Given the description of an element on the screen output the (x, y) to click on. 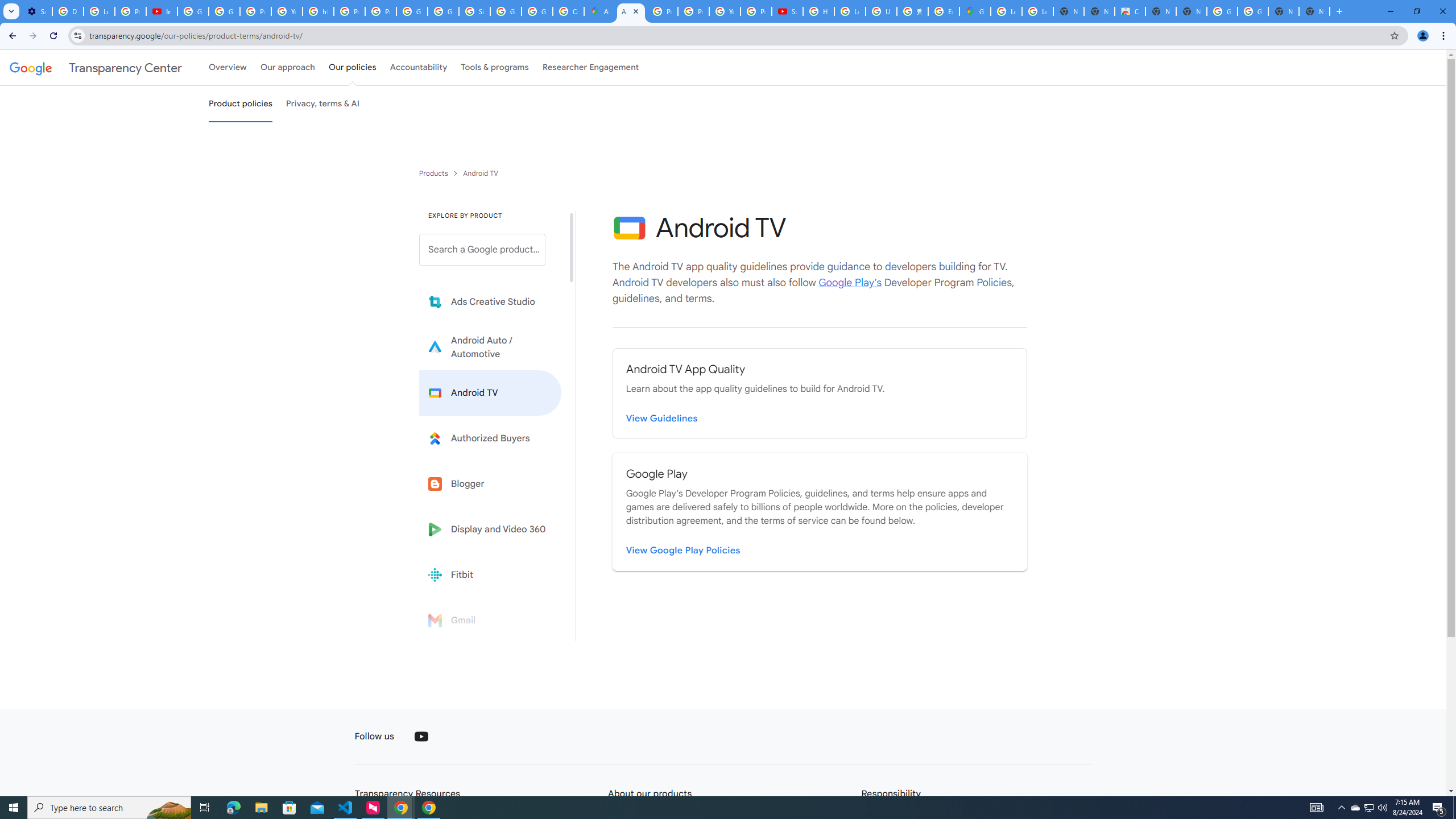
Privacy Help Center - Policies Help (349, 11)
Delete photos & videos - Computer - Google Photos Help (67, 11)
Fitbit (490, 574)
Privacy, terms & AI (322, 103)
Learn more about Authorized Buyers (490, 438)
Google Maps (974, 11)
Transparency Center (95, 67)
